Given the description of an element on the screen output the (x, y) to click on. 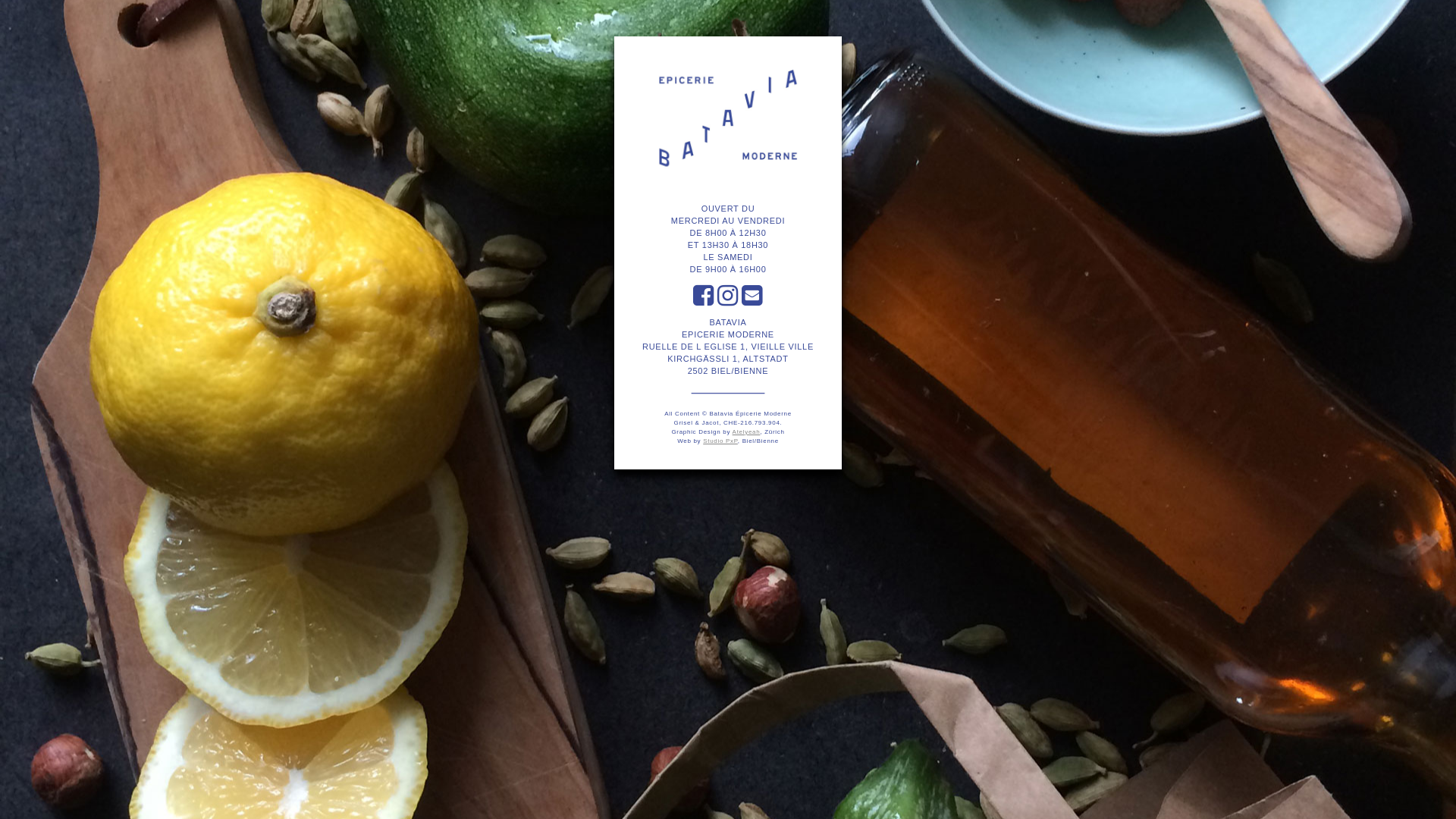
Studio PxP Element type: text (719, 440)
Atelyeah Element type: text (746, 431)
